Given the description of an element on the screen output the (x, y) to click on. 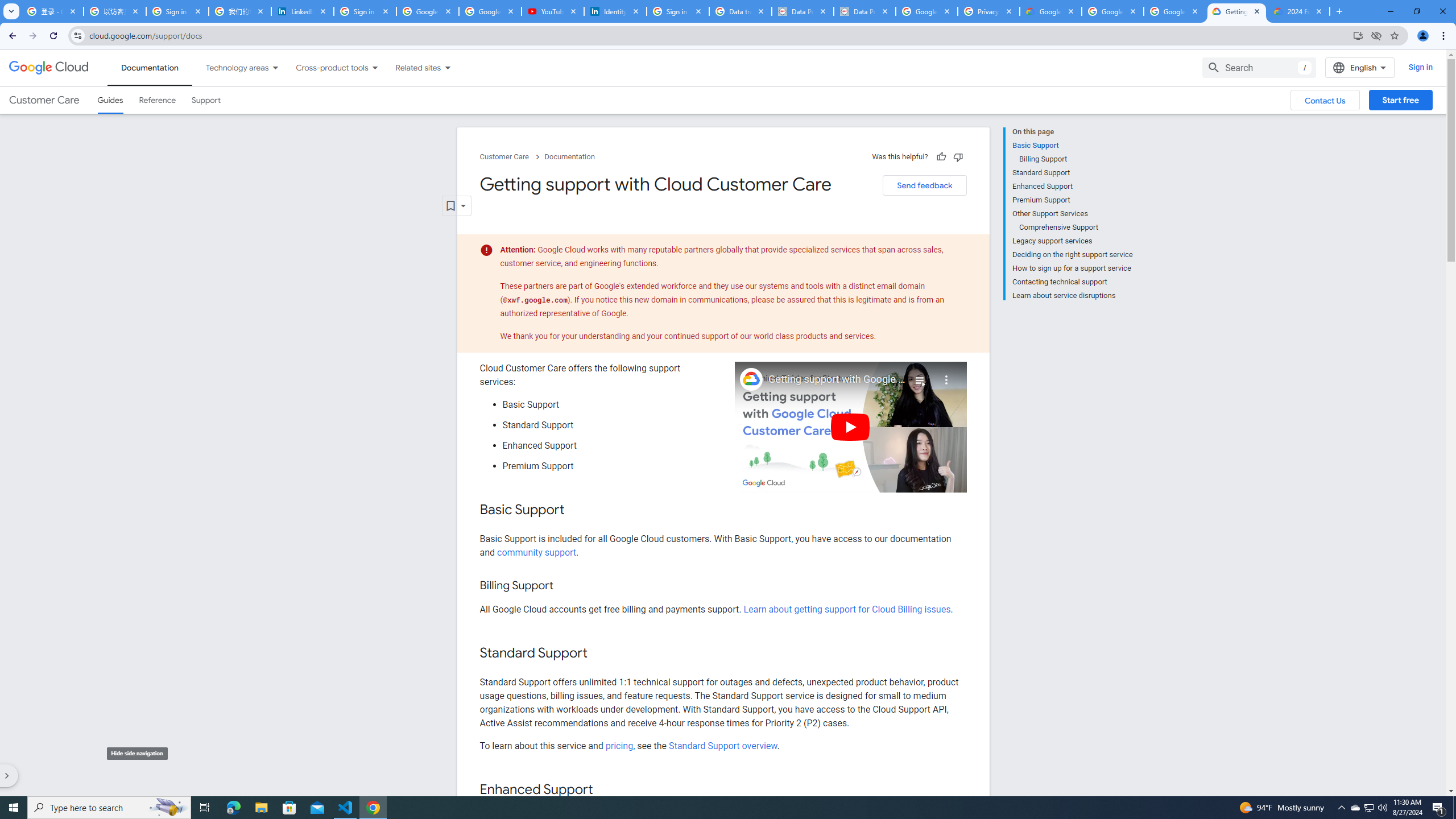
Send feedback (924, 185)
Data Privacy Framework (802, 11)
Support (205, 99)
How to sign up for a support service (1071, 268)
Cross-product tools (325, 67)
LinkedIn Privacy Policy (302, 11)
Guides, selected (109, 99)
Install Google Cloud (1358, 35)
